Given the description of an element on the screen output the (x, y) to click on. 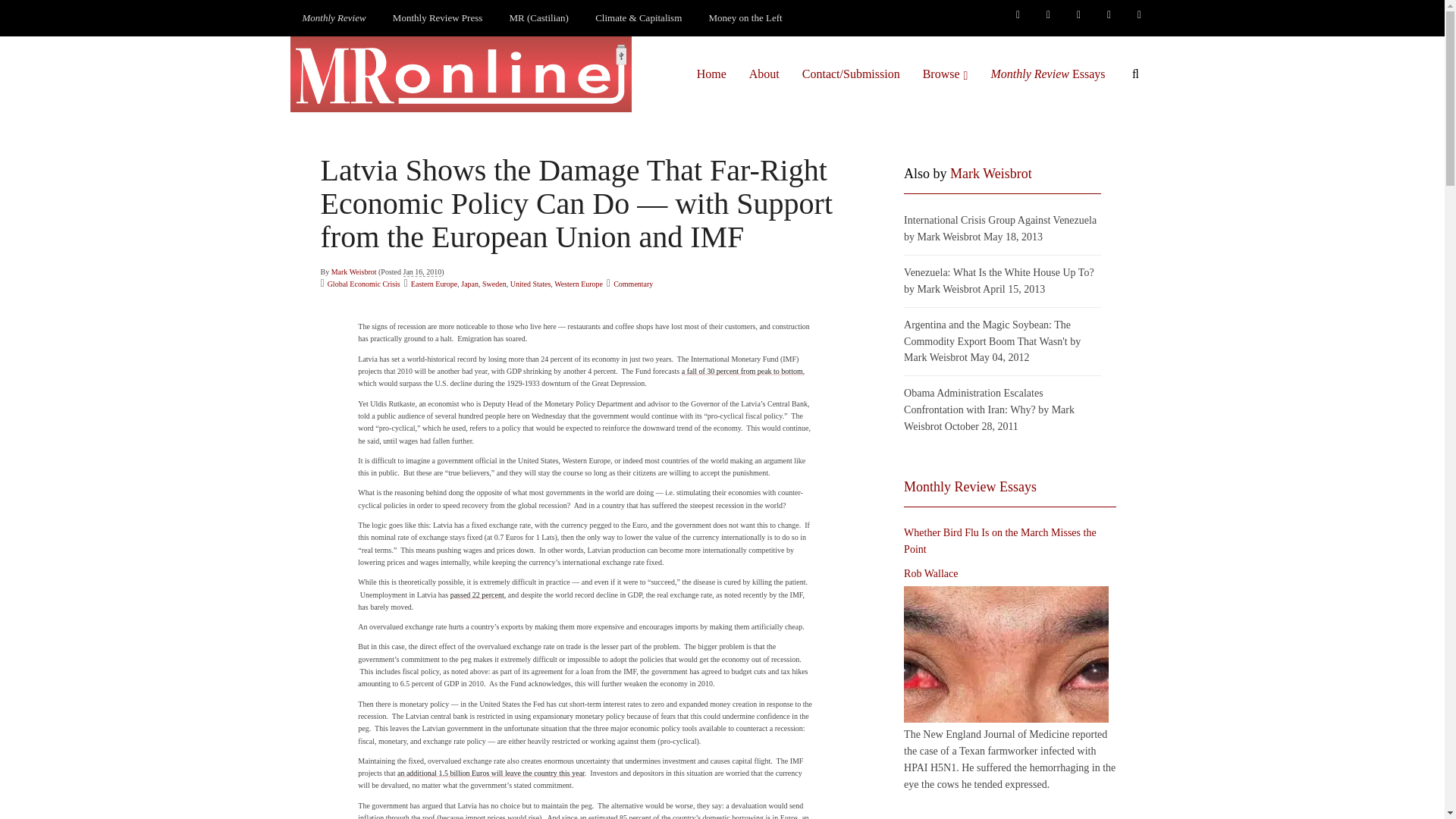
Monthly Review Magazine (333, 18)
Browse (945, 74)
Monthly Review Press (437, 18)
Whether Bird Flu Is on the March Misses the Point (1006, 654)
Posts by Rob Wallace (931, 573)
Monthly Review (333, 18)
Money on the Left (745, 18)
